Given the description of an element on the screen output the (x, y) to click on. 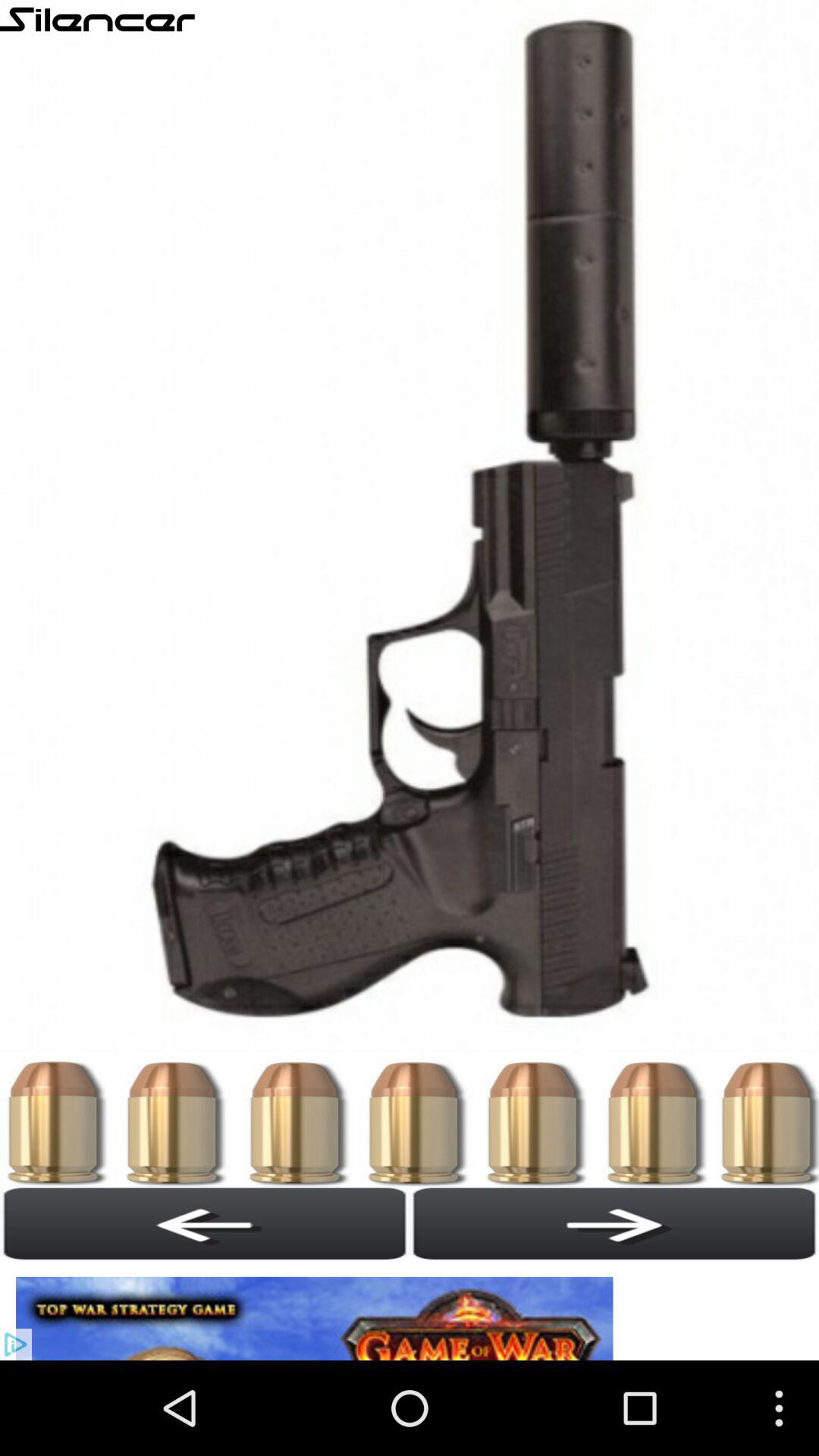
go to next (614, 1223)
